Given the description of an element on the screen output the (x, y) to click on. 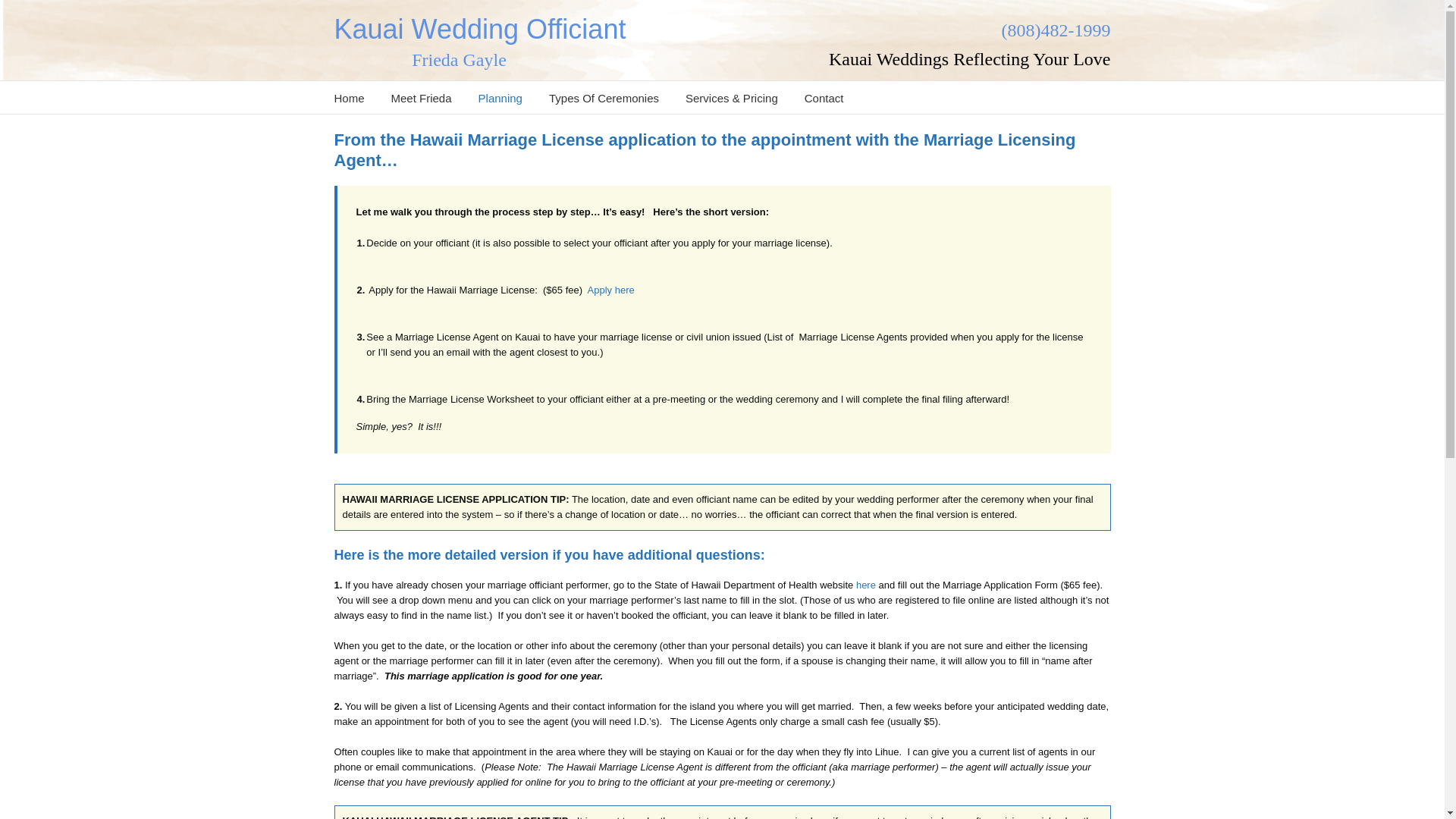
Home (348, 97)
Types Of Ceremonies (603, 97)
Meet Frieda (421, 97)
Apply here (611, 289)
Apply for Hawaii Marriage License (611, 289)
Apply for Hawaii Marriage License (866, 584)
Contact (824, 97)
here (866, 584)
Planning (500, 97)
